Given the description of an element on the screen output the (x, y) to click on. 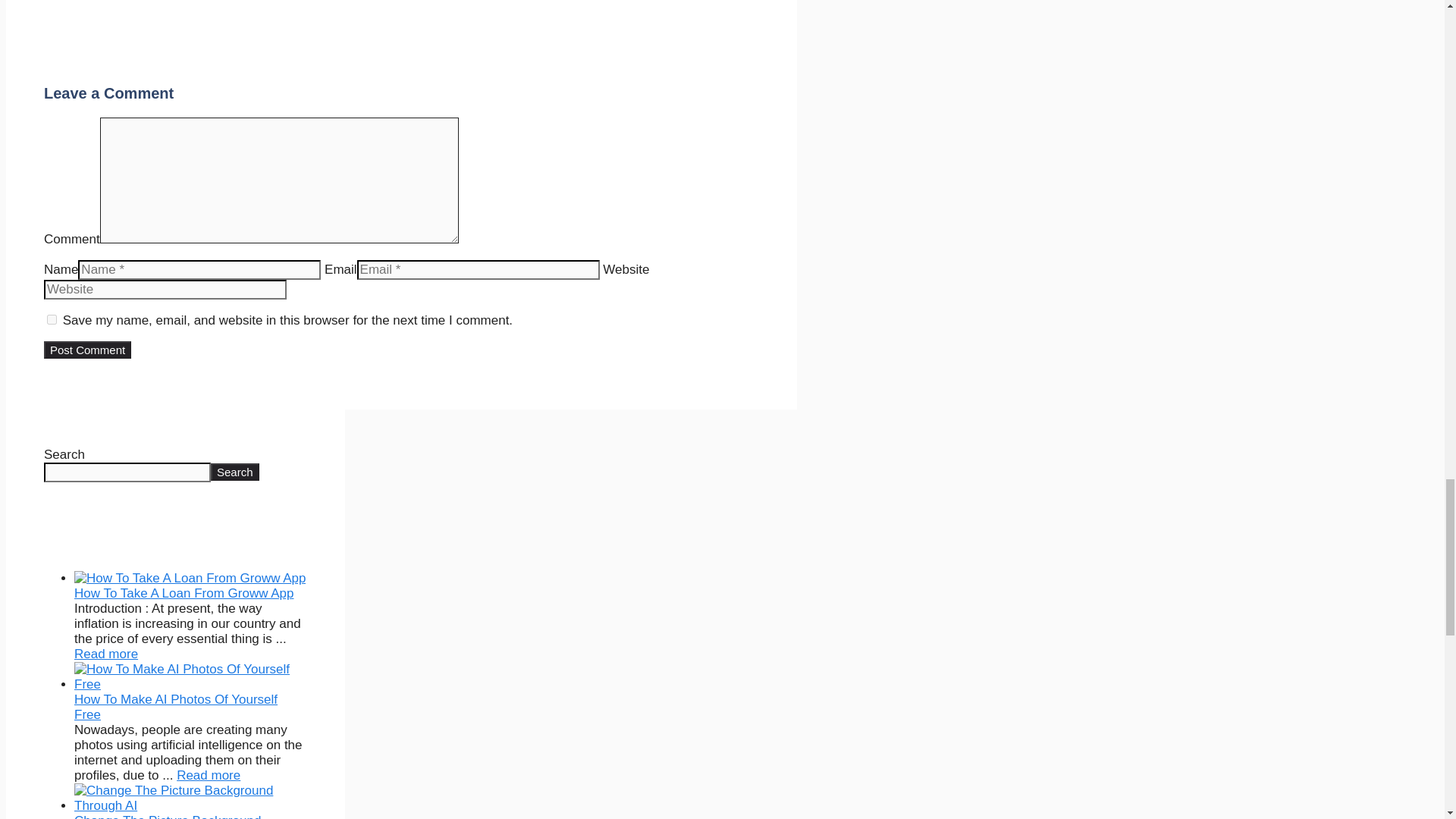
Read more (208, 775)
How To Take A Loan From Groww App (184, 593)
Change The Picture Background Through AI (167, 816)
How To Make AI Photos Of Yourself Free (208, 775)
yes (51, 319)
Post Comment (87, 349)
Search (235, 471)
Read more (106, 653)
Post Comment (87, 349)
How To Make AI Photos Of Yourself Free (176, 706)
How To Take A Loan From Groww App (106, 653)
